Given the description of an element on the screen output the (x, y) to click on. 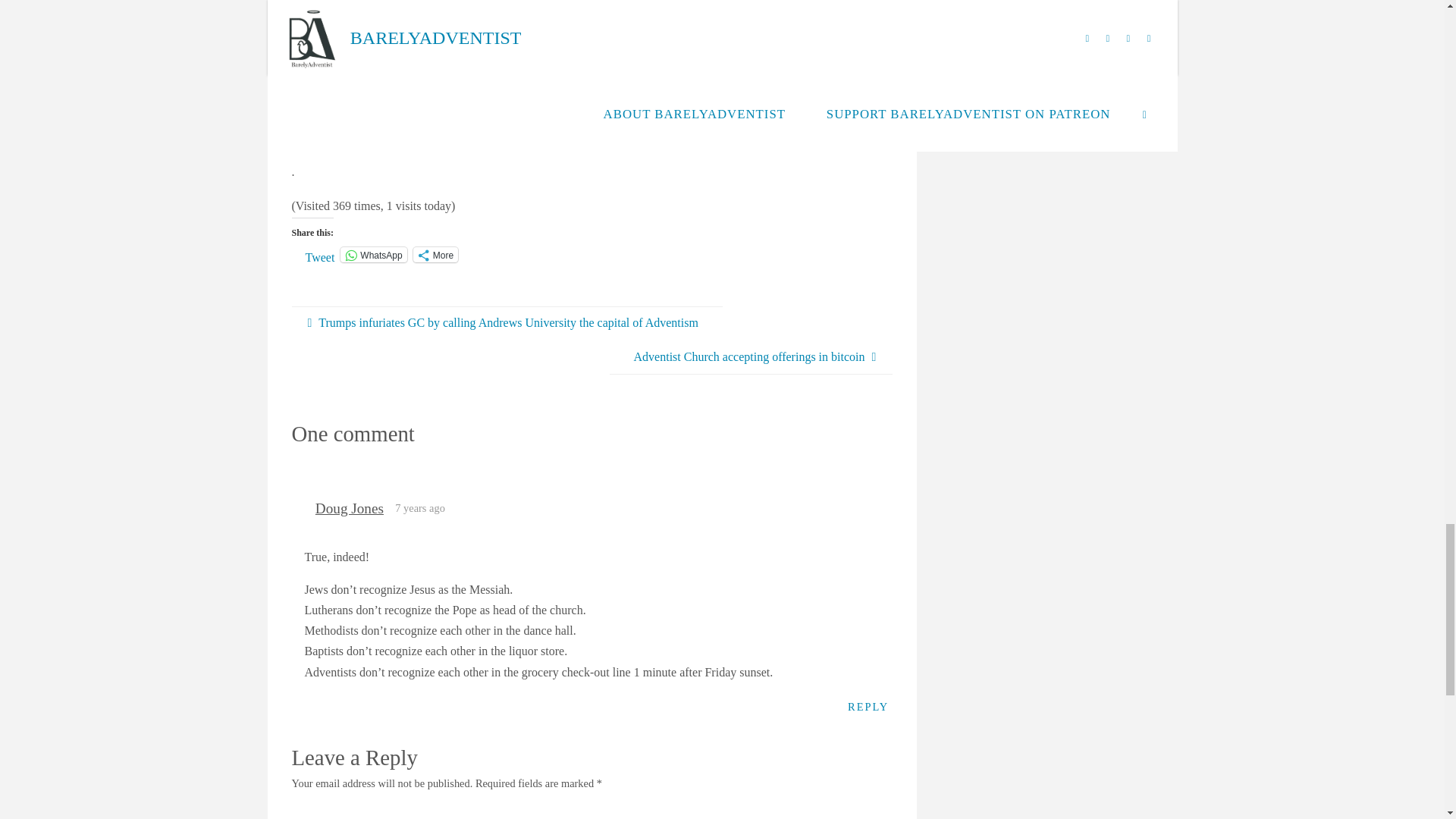
Click to share on WhatsApp (373, 254)
Tweet (319, 254)
WhatsApp (373, 254)
